Given the description of an element on the screen output the (x, y) to click on. 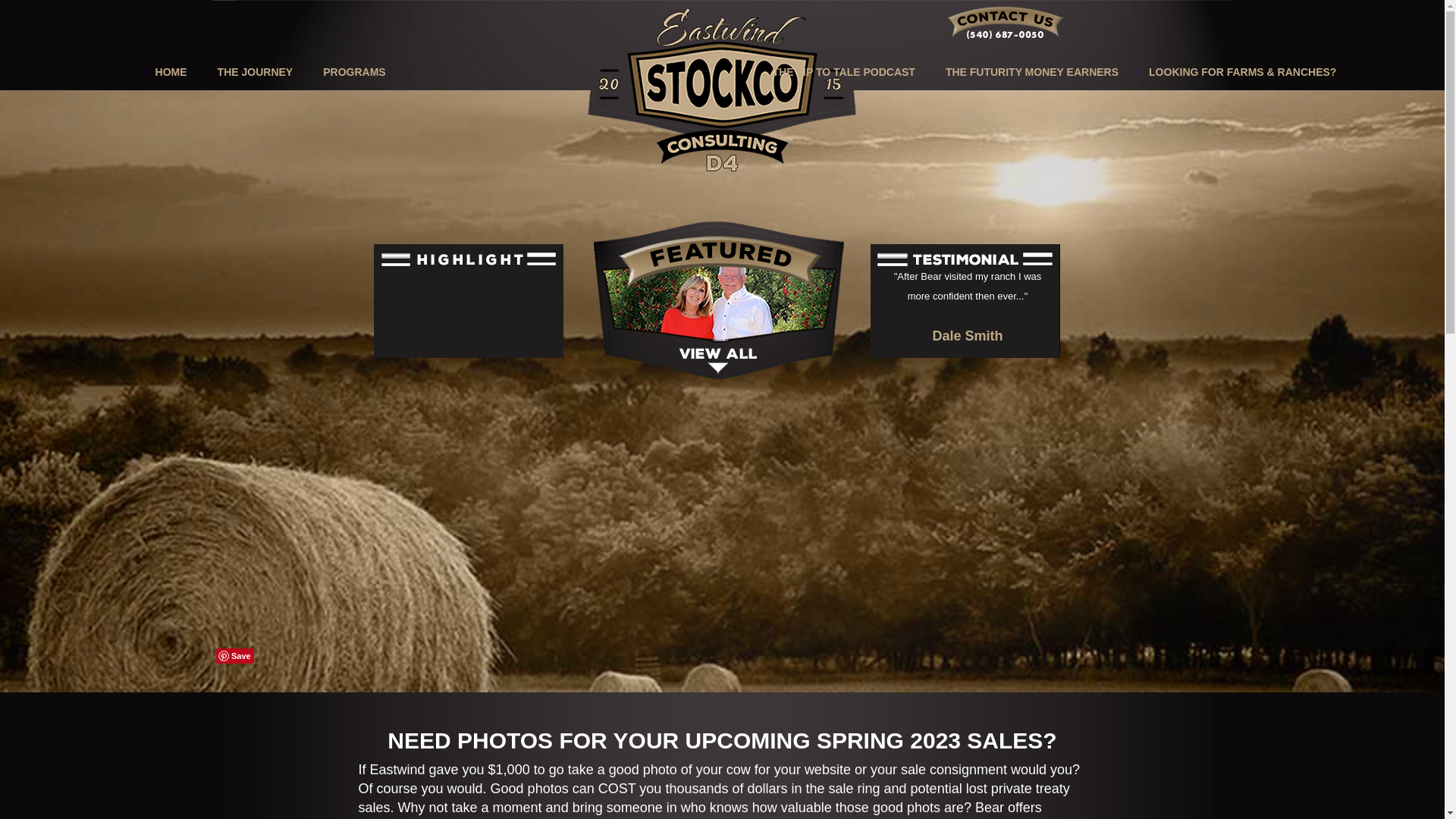
PROGRAMS (352, 60)
Home (170, 60)
HOME (170, 60)
The Journey (254, 60)
THE FUTURITY MONEY EARNERS (1031, 60)
THE TIP TO TALE PODCAST (843, 60)
THE JOURNEY (254, 60)
Programs (352, 60)
Home (722, 86)
